Given the description of an element on the screen output the (x, y) to click on. 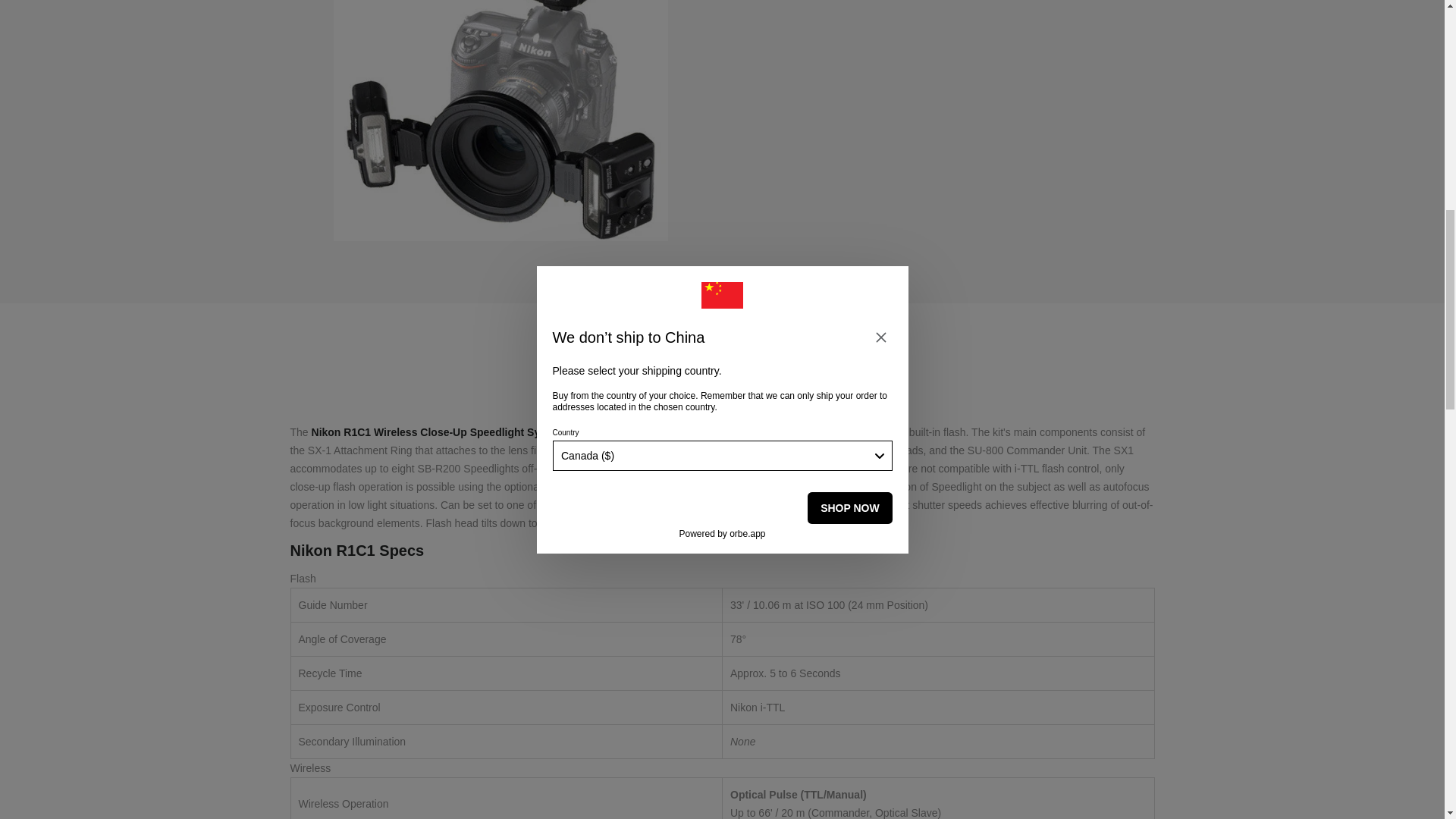
Nikon R1C1 Wireless Close-Up Speedlight System (500, 120)
